Given the description of an element on the screen output the (x, y) to click on. 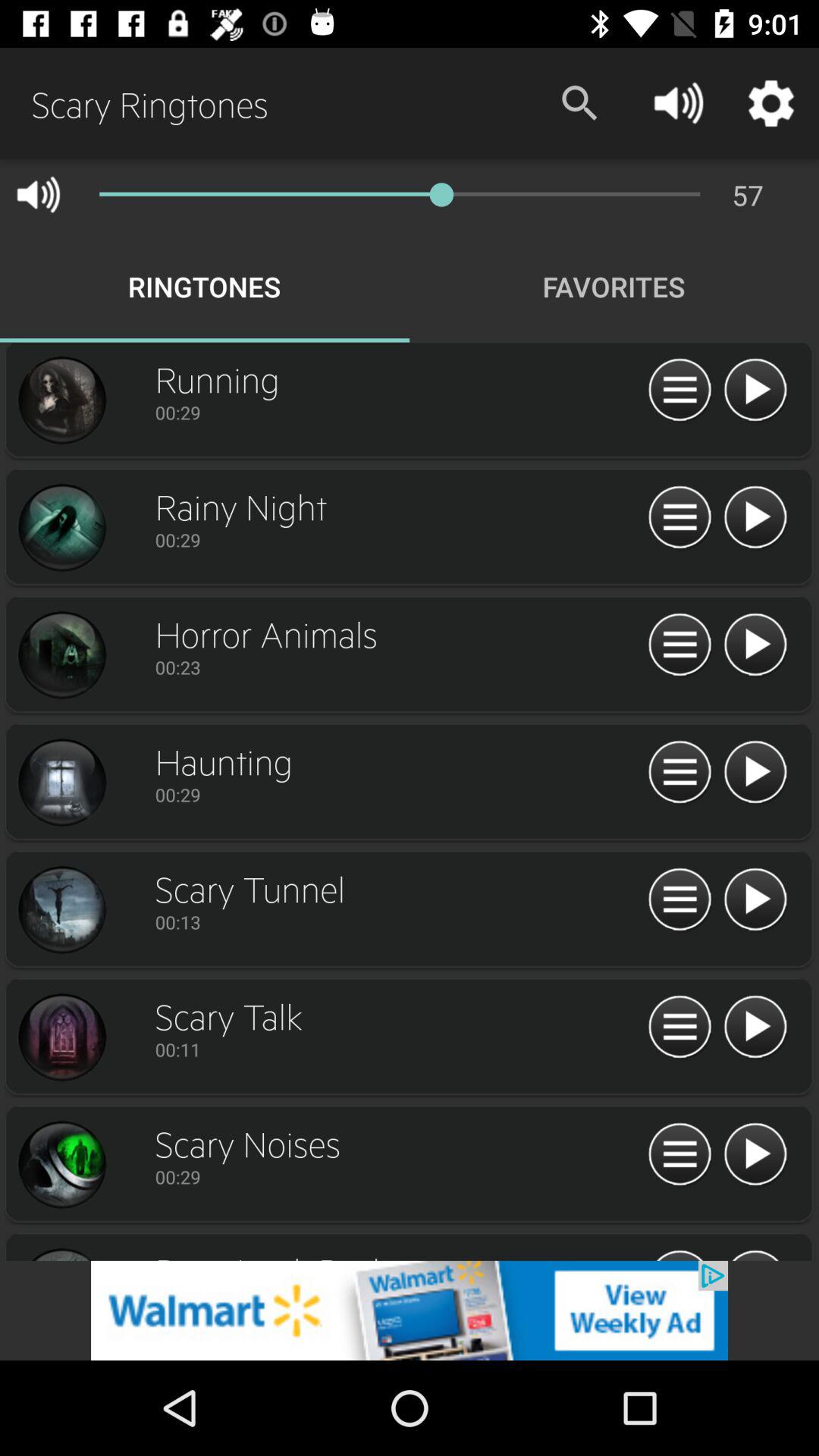
open advertisement (409, 1310)
